Given the description of an element on the screen output the (x, y) to click on. 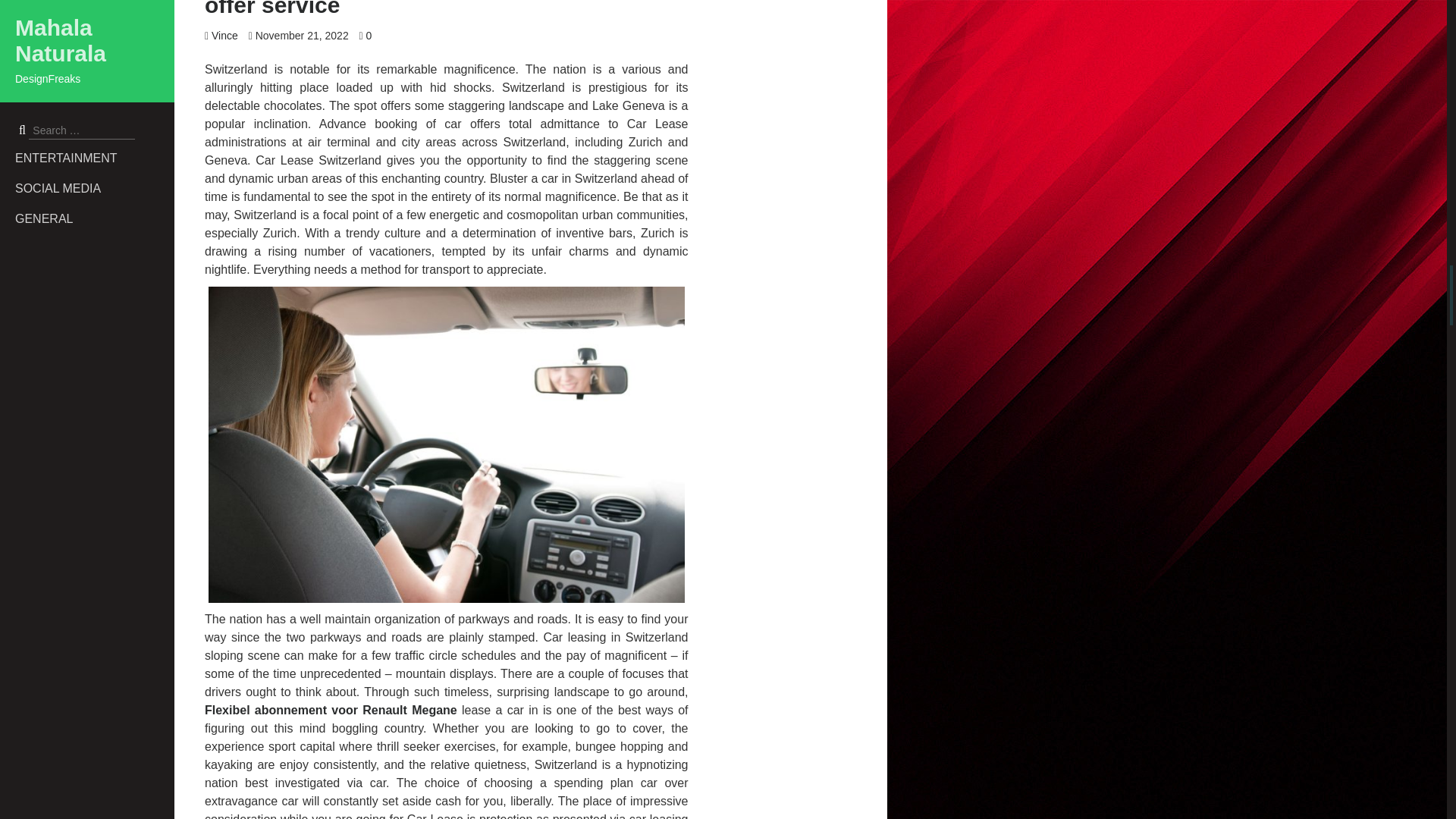
Flexibel abonnement voor Renault Megane (331, 709)
Posts by Vince (224, 35)
Vince (224, 35)
